Given the description of an element on the screen output the (x, y) to click on. 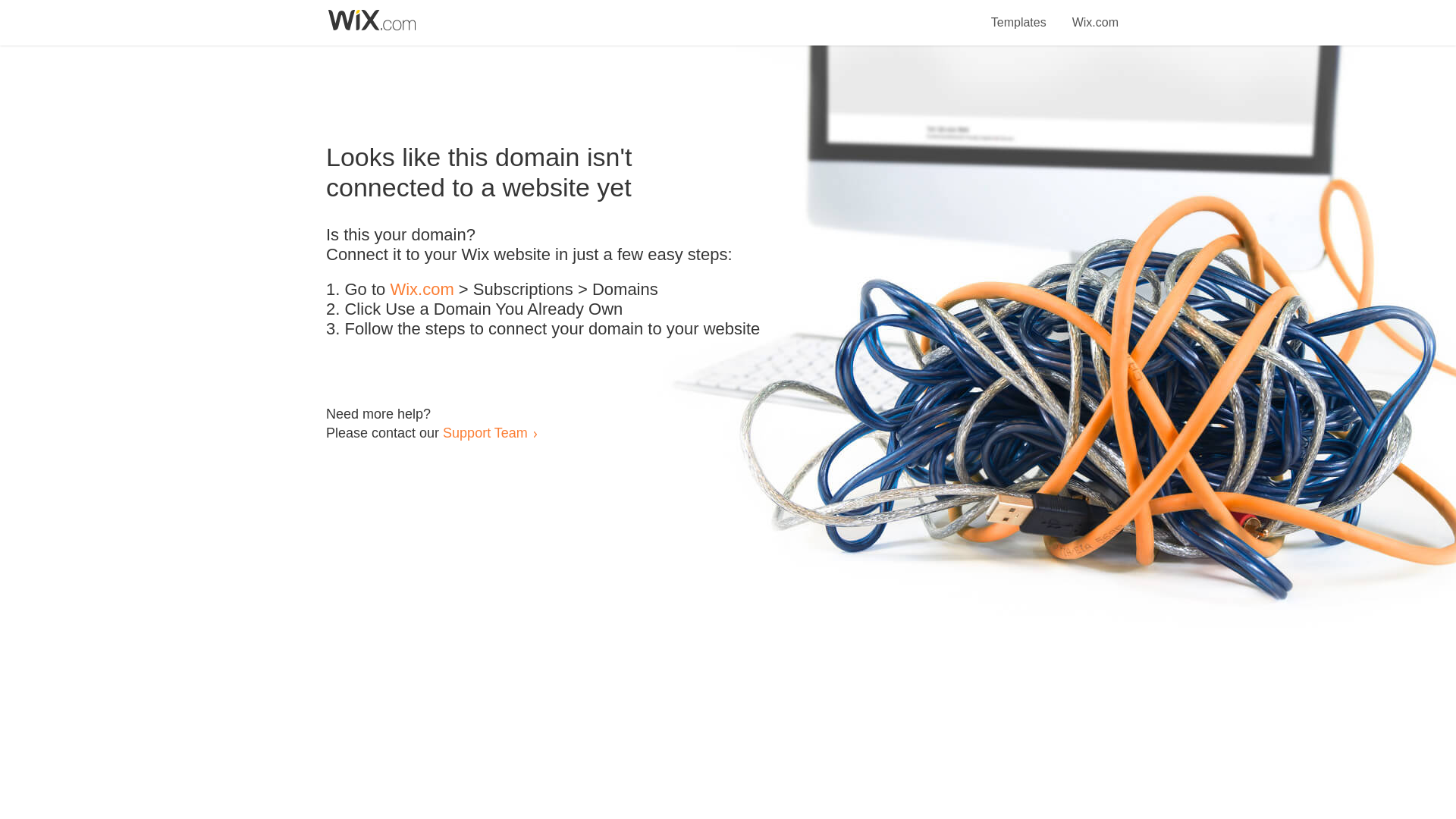
Wix.com (421, 289)
Templates (1018, 14)
Wix.com (1095, 14)
Support Team (484, 432)
